Given the description of an element on the screen output the (x, y) to click on. 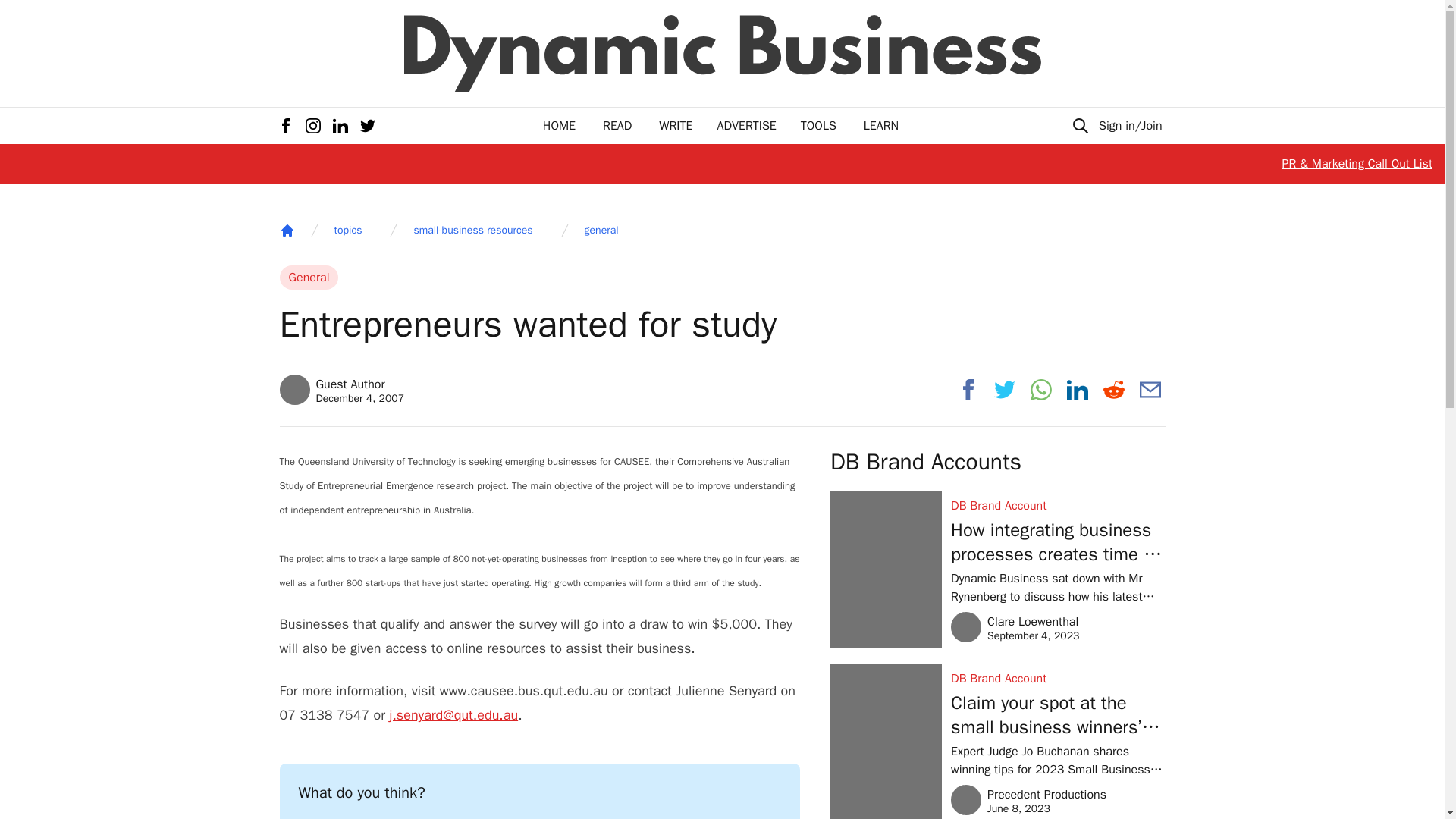
How integrating business processes creates time for growth (1057, 542)
general (601, 230)
TOOLS (817, 126)
General (308, 277)
topics (347, 230)
READ (616, 126)
HOME (559, 126)
DB Brand Account (1014, 626)
Home (341, 389)
LEARN (1057, 678)
ADVERTISE (286, 230)
WRITE (880, 126)
small-business-resources (746, 126)
